Given the description of an element on the screen output the (x, y) to click on. 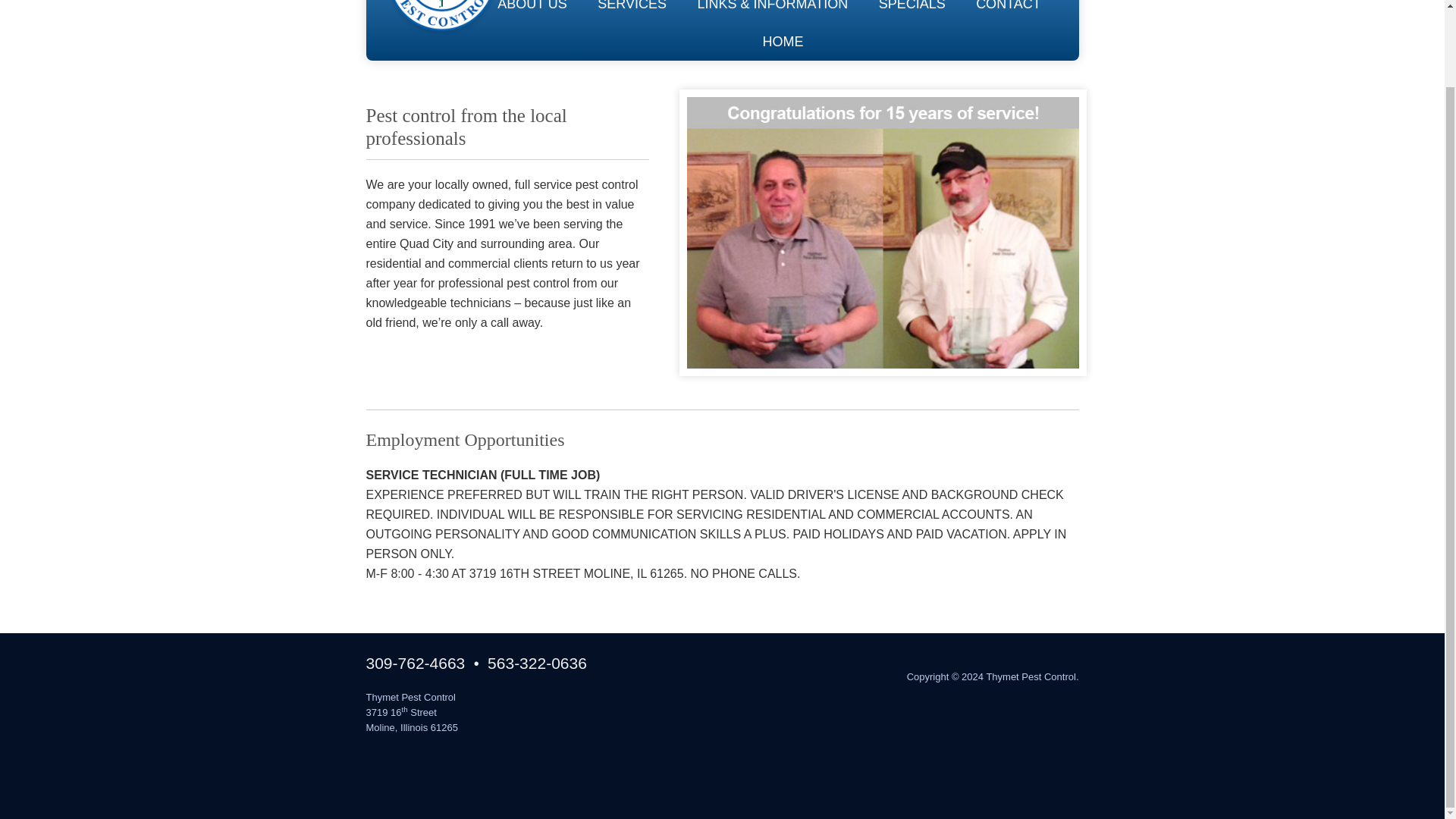
ABOUT US (532, 11)
SPECIALS (911, 11)
CONTACT (1008, 11)
HOME (782, 41)
SERVICES (631, 11)
